Given the description of an element on the screen output the (x, y) to click on. 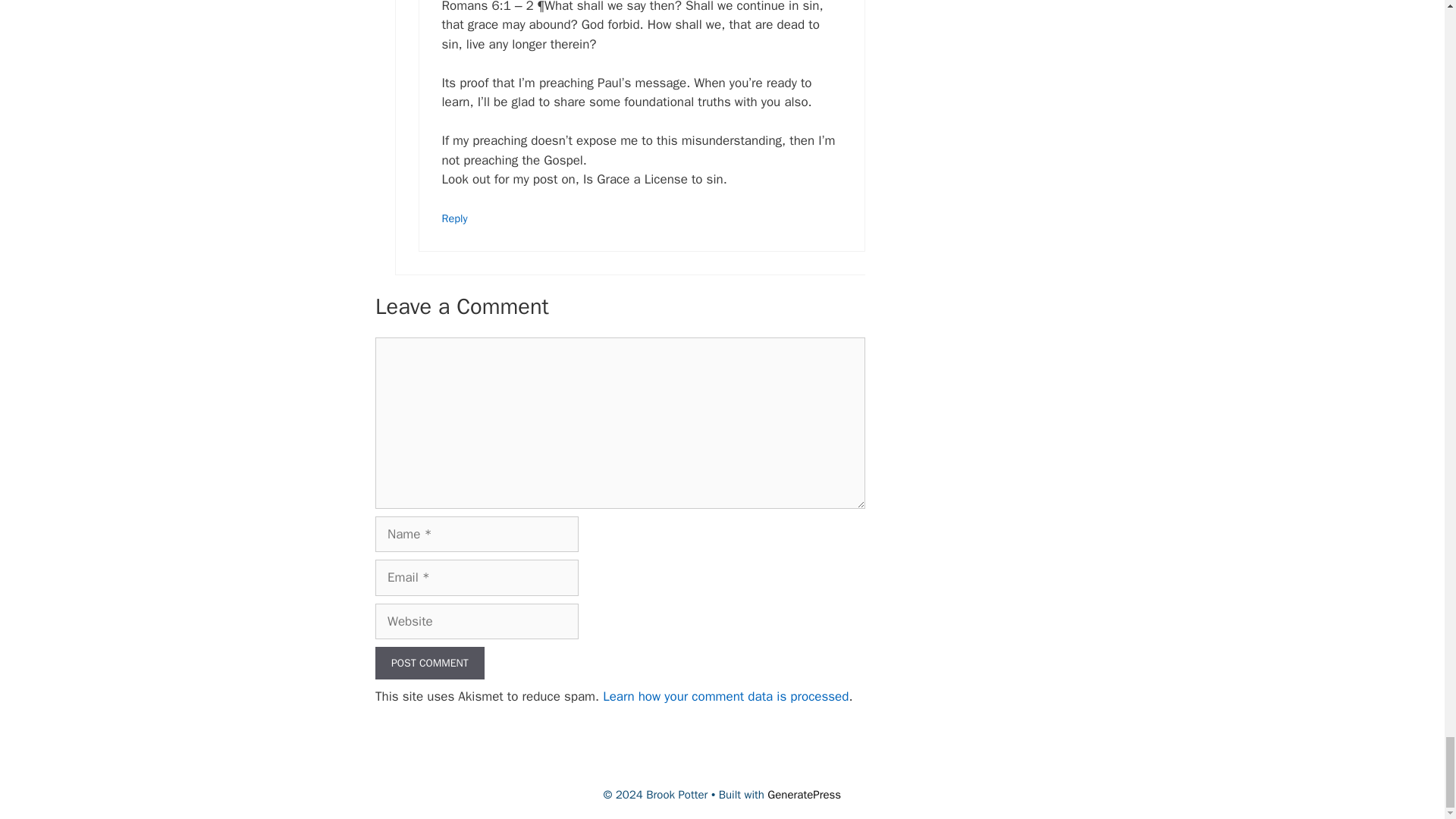
Post Comment (429, 663)
